Given the description of an element on the screen output the (x, y) to click on. 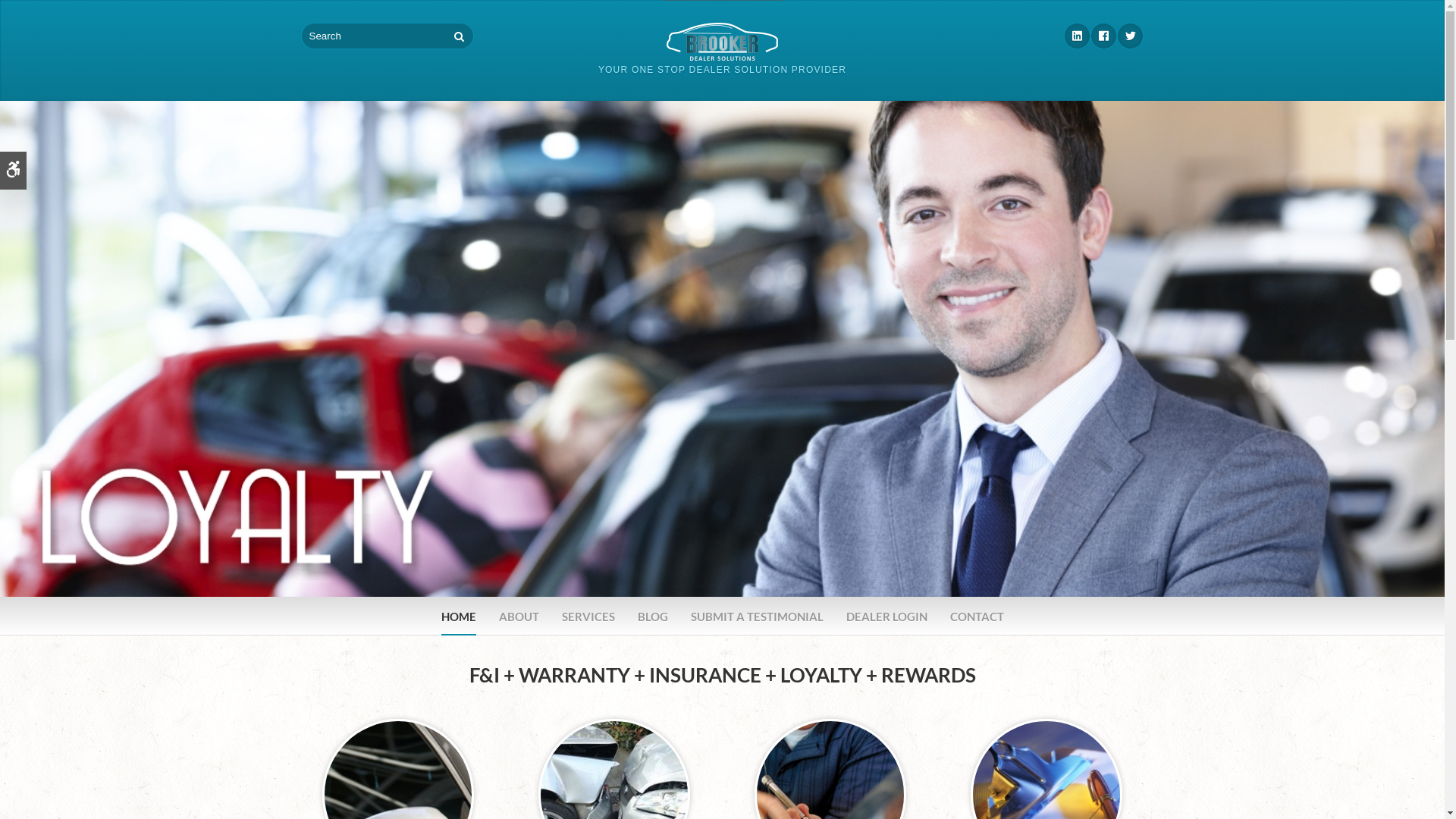
BLOG Element type: text (652, 616)
DEALER LOGIN Element type: text (886, 616)
dealer loyalty rentention programs Element type: hover (1046, 793)
brooker dealer solutions warranty programs Element type: hover (830, 793)
HOME Element type: text (458, 616)
Linkedin page | Opens in a new tab Element type: hover (1076, 35)
dealer protection programs Element type: hover (614, 793)
gap and creditor insurance Element type: hover (397, 793)
CONTACT Element type: text (976, 616)
SUBMIT A TESTIMONIAL Element type: text (756, 616)
Facebook page | Opens in a new tab Element type: hover (1103, 35)
Twitter page | Opens in a new tab Element type: hover (1130, 35)
Accessible Version Element type: text (13, 170)
Search Element type: text (459, 35)
SERVICES Element type: text (587, 616)
ABOUT Element type: text (518, 616)
